Given the description of an element on the screen output the (x, y) to click on. 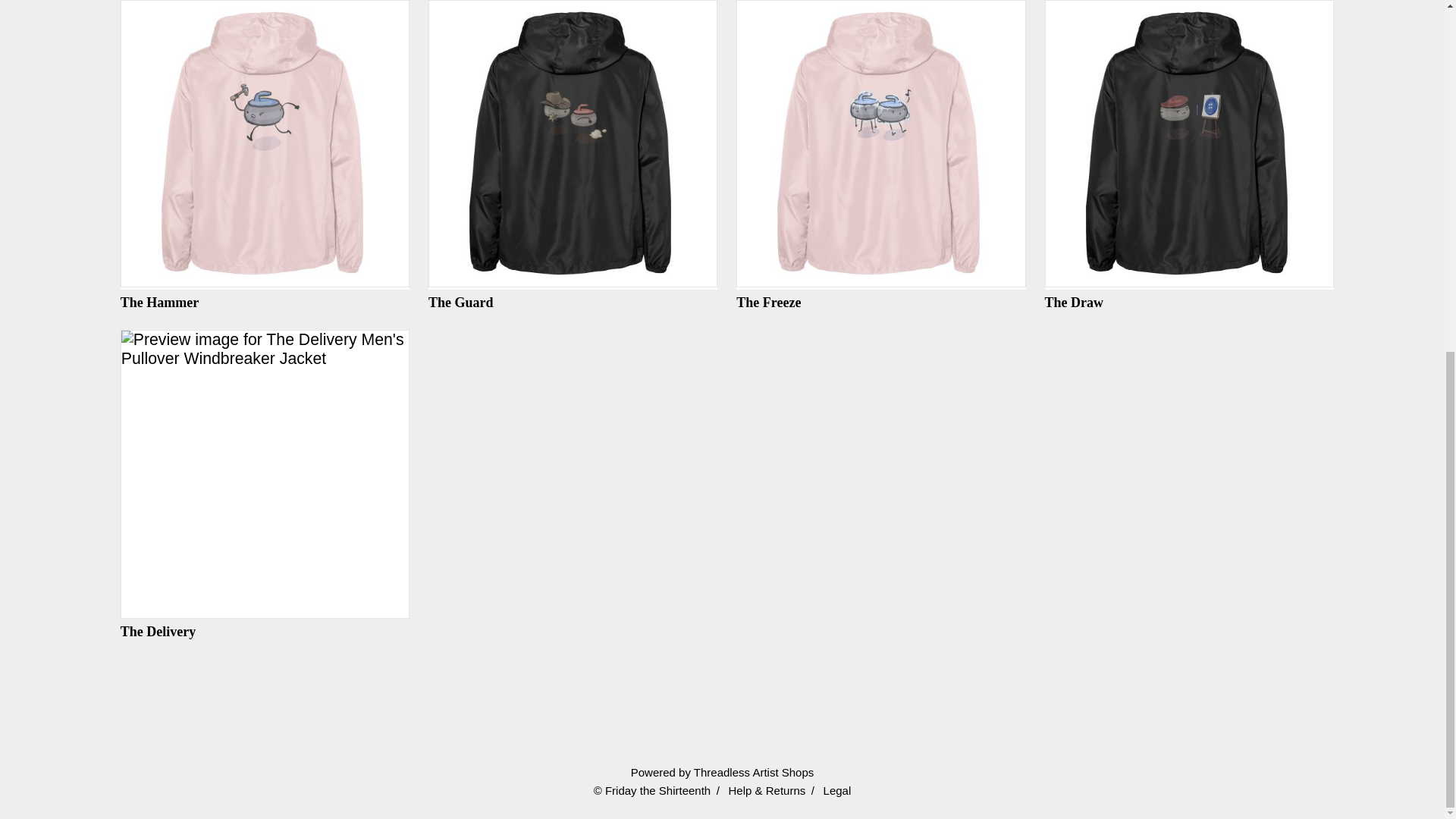
Legal (837, 789)
The Delivery (264, 484)
The Freeze (880, 155)
The Draw (1189, 155)
Threadless Artist Shops (753, 771)
The Hammer (264, 155)
The Guard (572, 155)
